Given the description of an element on the screen output the (x, y) to click on. 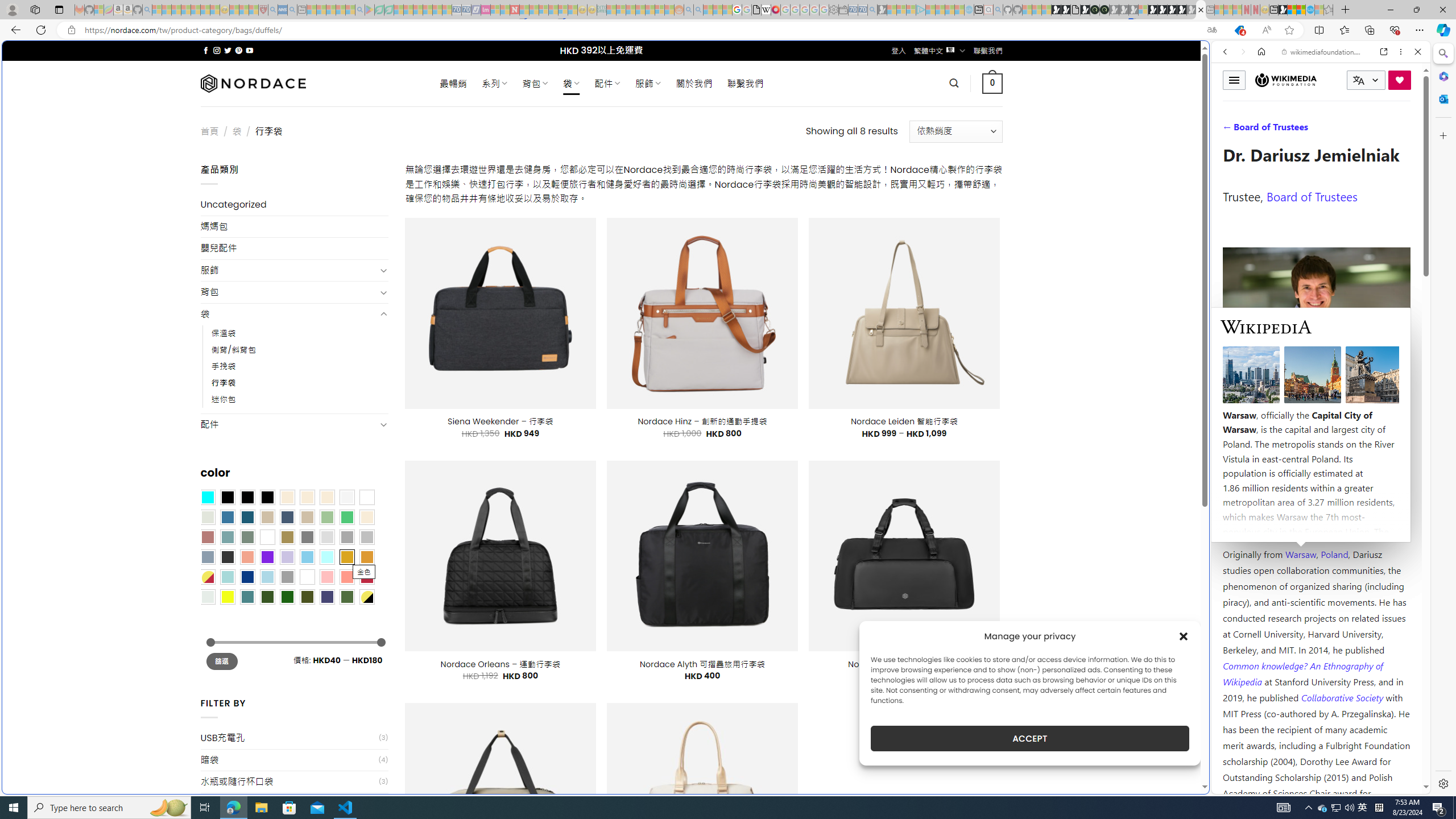
Board of Trustees (1311, 195)
CURRENT LANGUAGE: (1366, 80)
Follow on Facebook (205, 50)
  0   (992, 83)
